Given the description of an element on the screen output the (x, y) to click on. 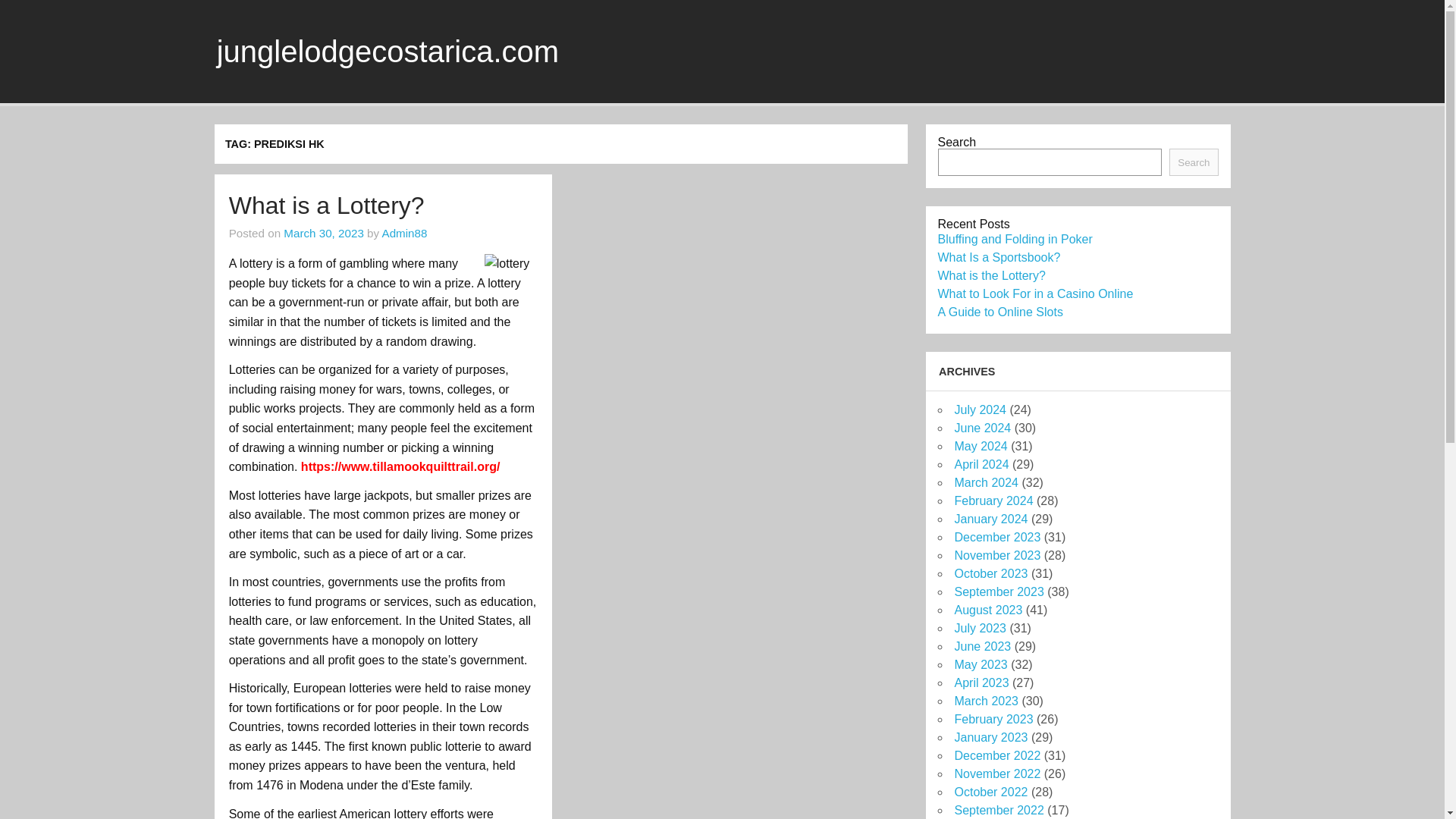
What to Look For in a Casino Online (1034, 293)
December 2022 (997, 755)
View all posts by Admin88 (404, 232)
September 2023 (998, 591)
February 2023 (992, 718)
October 2023 (990, 573)
junglelodgecostarica.com (387, 51)
May 2024 (980, 445)
January 2023 (990, 737)
Admin88 (404, 232)
May 2023 (980, 664)
What is a Lottery? (326, 205)
April 2024 (981, 463)
A Guide to Online Slots (999, 311)
January 2024 (990, 518)
